Given the description of an element on the screen output the (x, y) to click on. 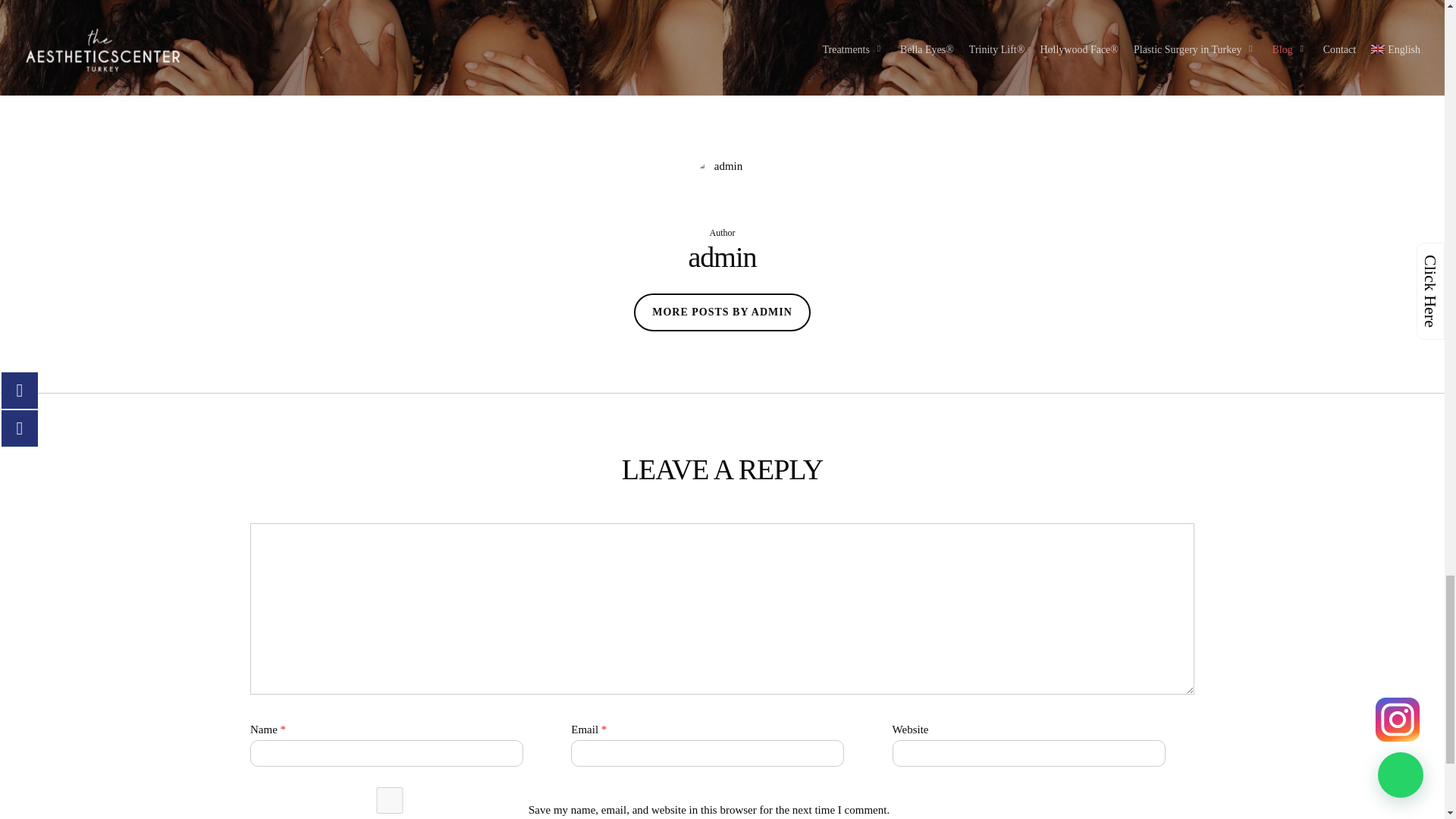
yes (389, 800)
